Given the description of an element on the screen output the (x, y) to click on. 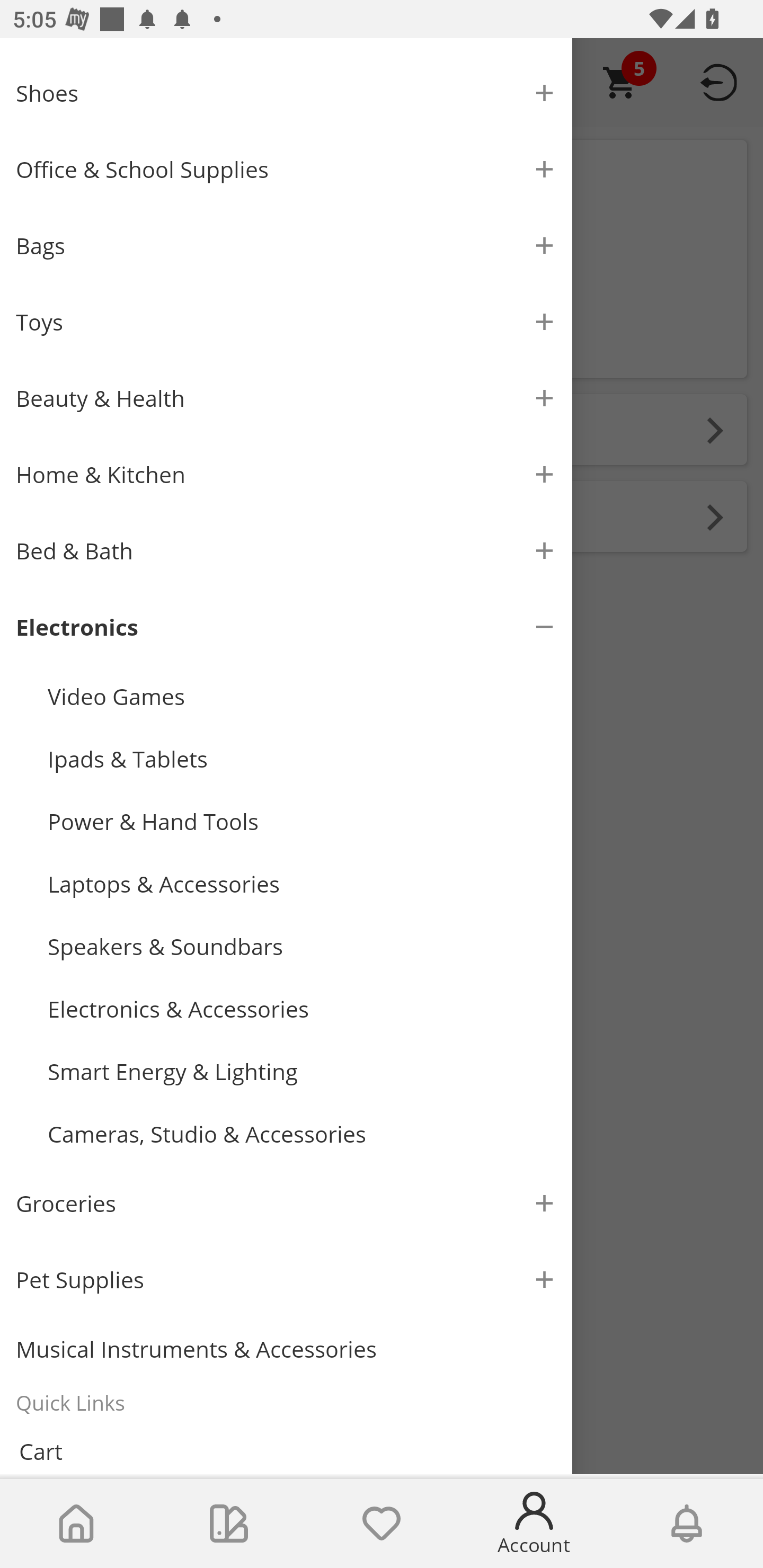
Shoes (286, 92)
Office & School Supplies (286, 168)
Bags (286, 244)
Toys (286, 321)
Beauty & Health (286, 397)
Home & Kitchen (286, 473)
Bed & Bath (286, 550)
Video Games (302, 695)
Ipads & Tablets (302, 758)
Power & Hand Tools (302, 821)
Laptops & Accessories (302, 883)
Speakers & Soundbars (302, 946)
Electronics & Accessories (302, 1009)
Smart Energy & Lighting (302, 1071)
Cameras, Studio & Accessories (302, 1133)
Groceries (286, 1203)
Pet Supplies (286, 1279)
Musical Instruments & Accessories (286, 1348)
Cart (286, 1449)
Home (76, 1523)
Collections (228, 1523)
Wishlist (381, 1523)
Notifications (686, 1523)
